Given the description of an element on the screen output the (x, y) to click on. 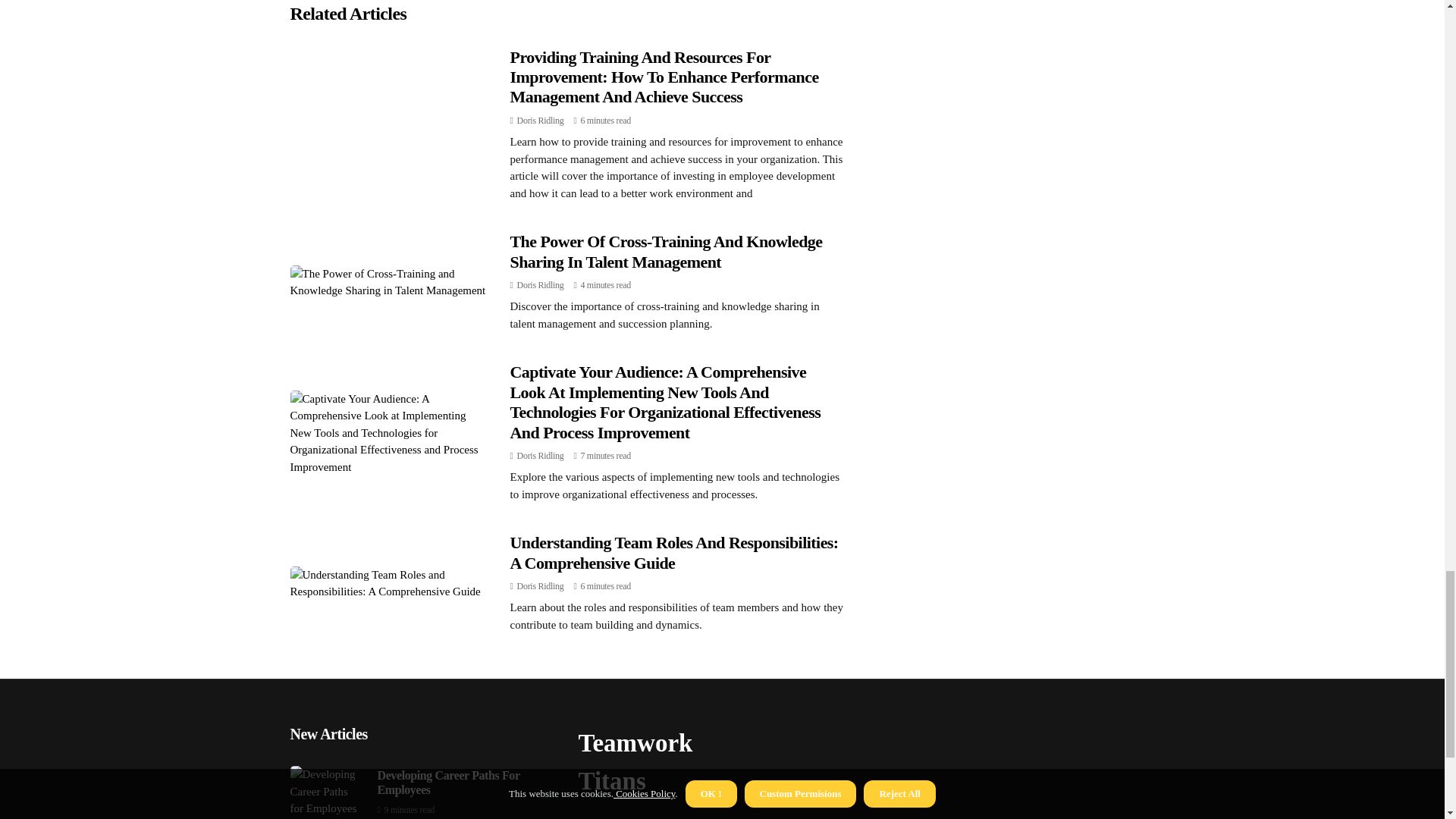
Posts by Doris Ridling (540, 585)
Posts by Doris Ridling (540, 455)
Posts by Doris Ridling (540, 285)
Posts by Doris Ridling (540, 120)
